Given the description of an element on the screen output the (x, y) to click on. 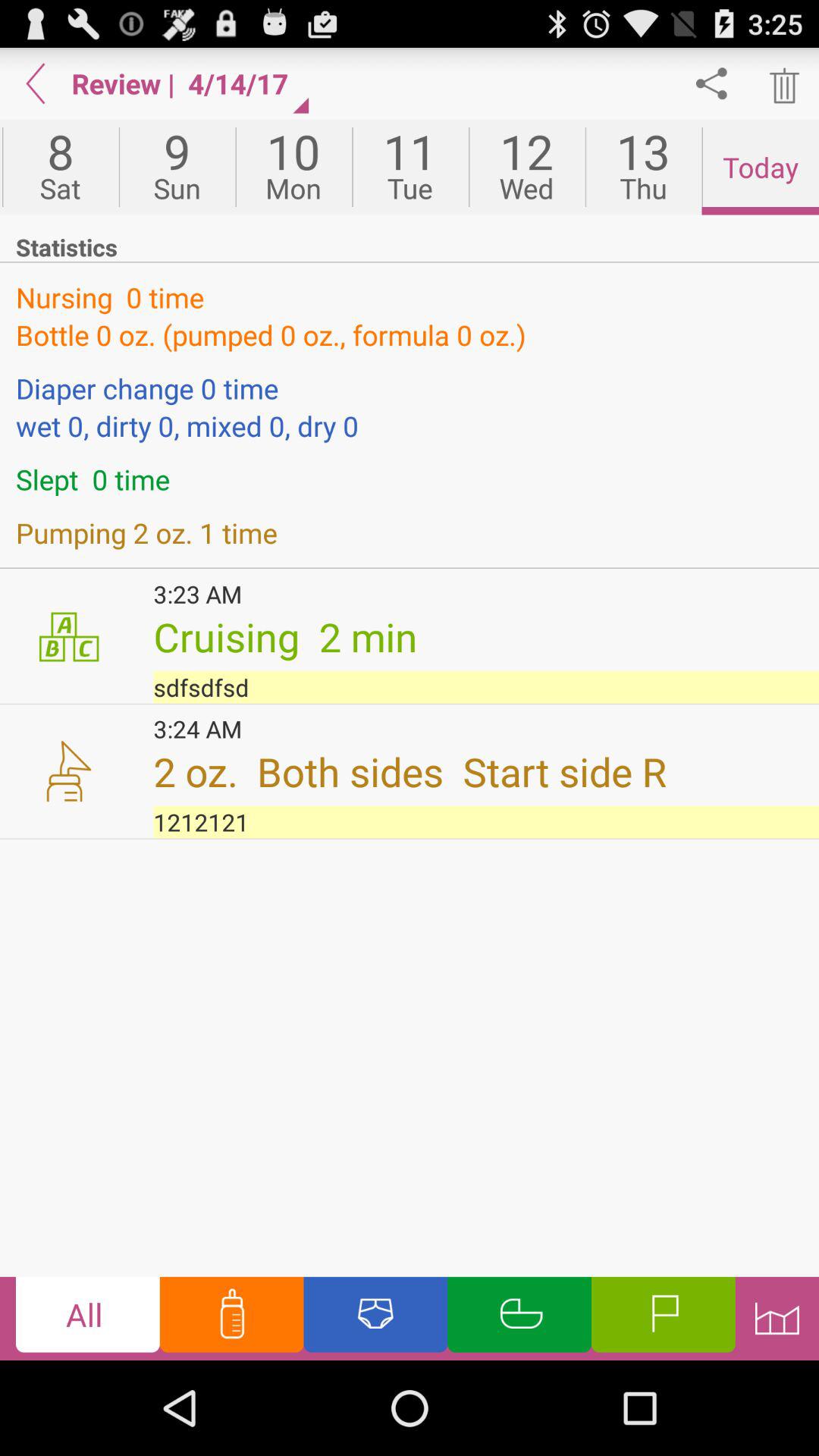
log sleep (519, 1318)
